Given the description of an element on the screen output the (x, y) to click on. 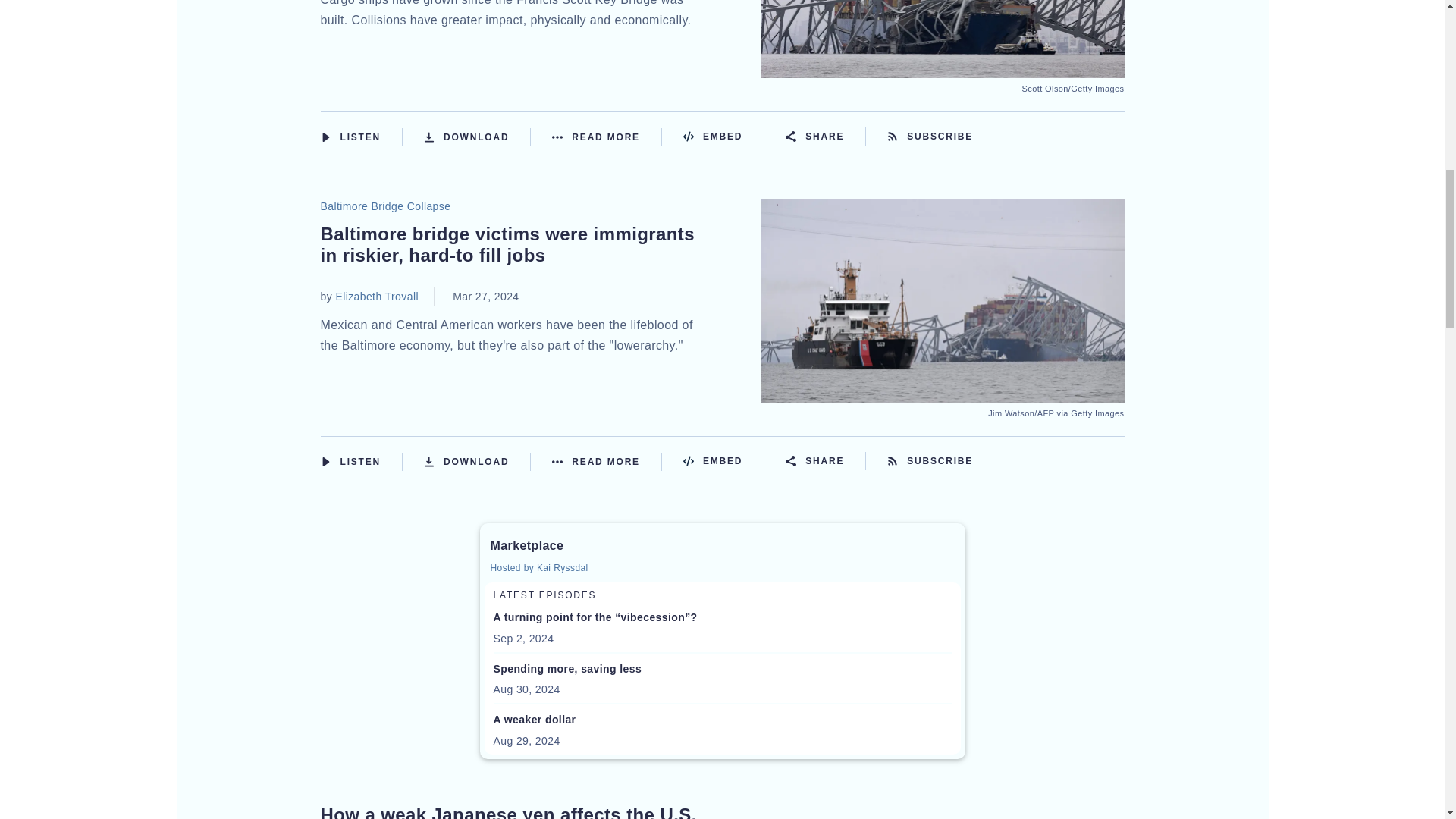
Big cargo ships are more efficient. And more risky. (942, 68)
LISTEN (325, 136)
LISTEN (325, 461)
Listen Now (360, 461)
Read More (606, 136)
Listen Now (360, 136)
Download (477, 136)
